Given the description of an element on the screen output the (x, y) to click on. 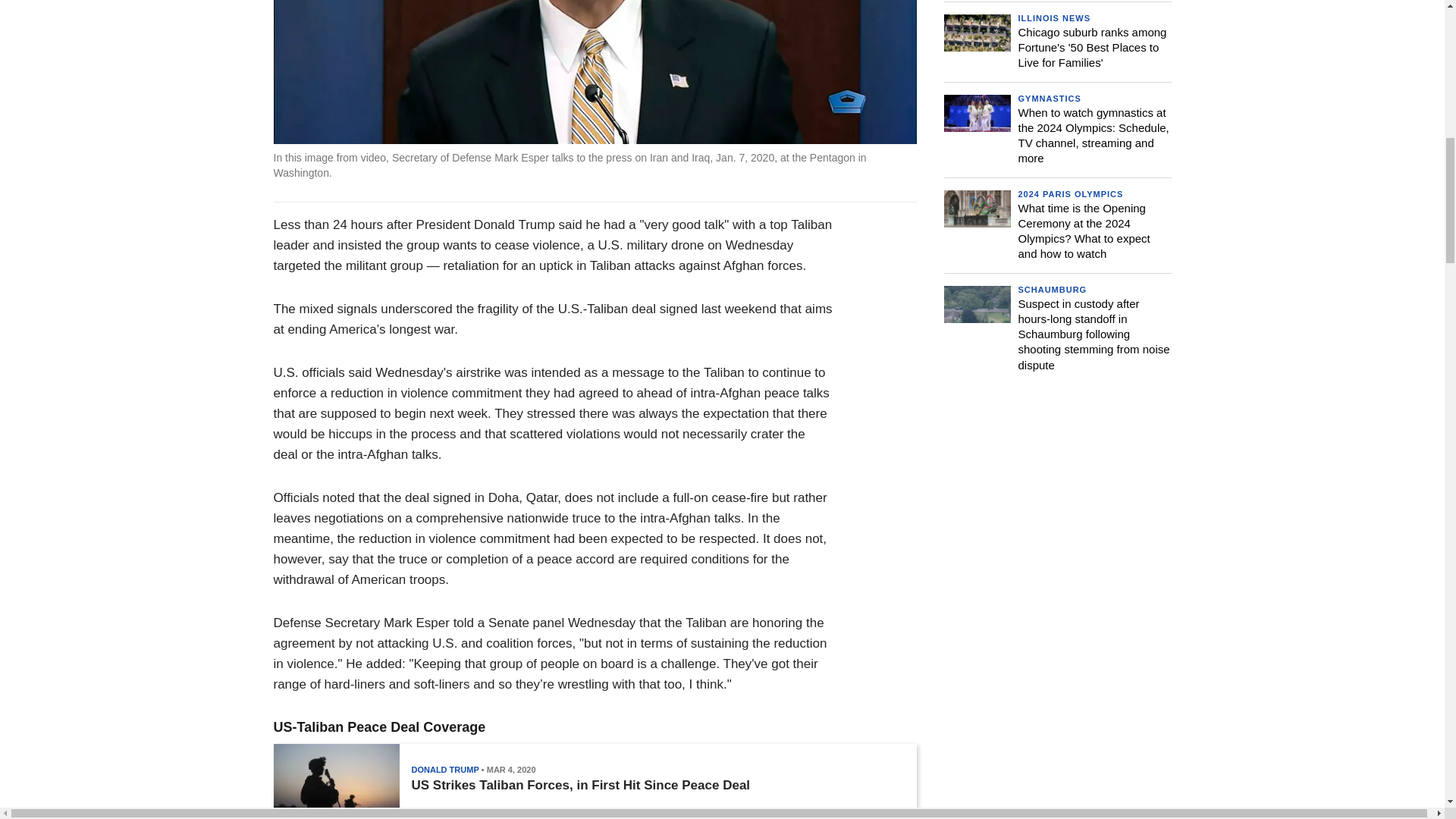
US Strikes Taliban Forces, in First Hit Since Peace Deal (579, 785)
DONALD TRUMP (444, 768)
